Given the description of an element on the screen output the (x, y) to click on. 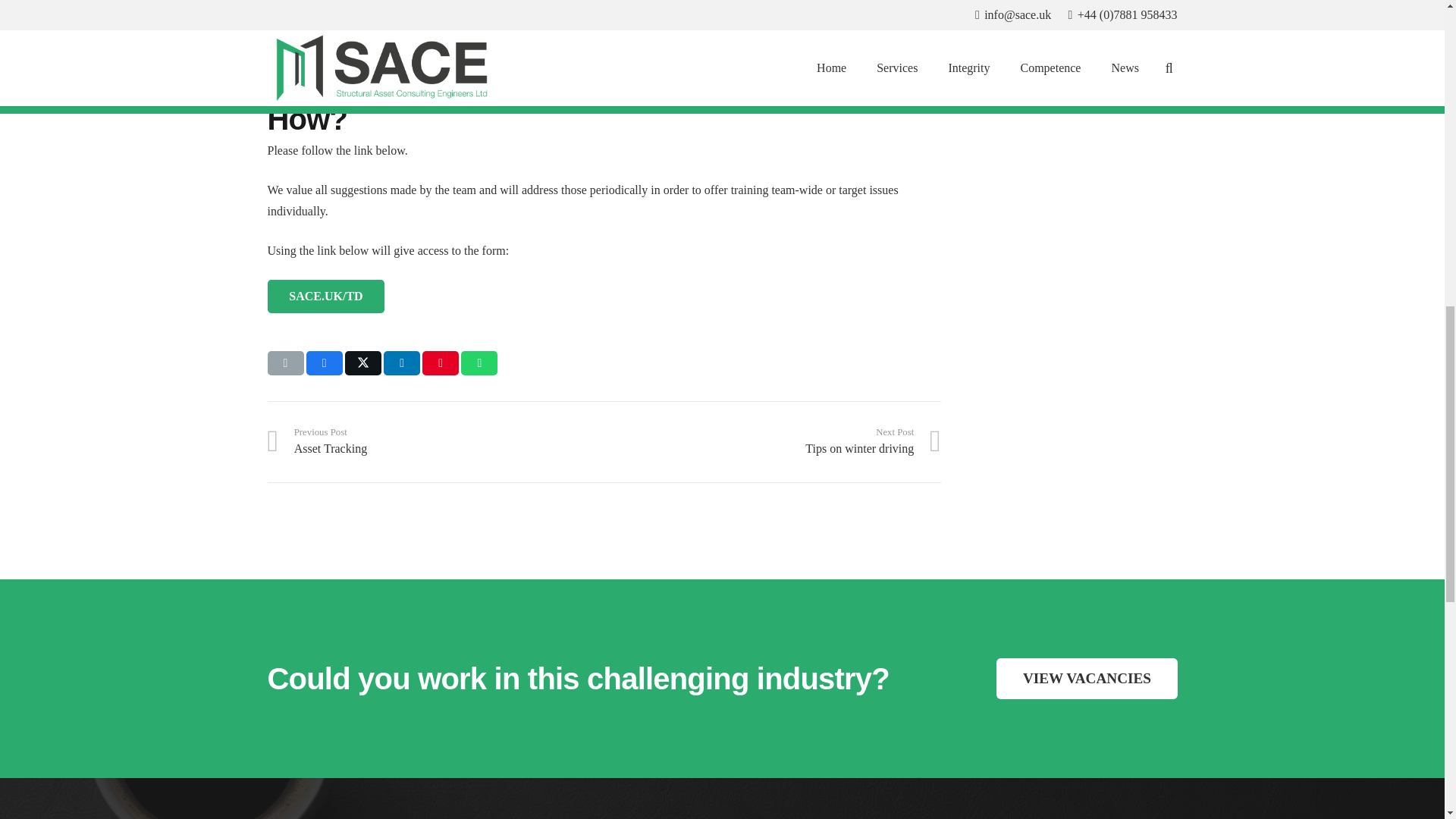
Share this (479, 363)
Asset Tracking (772, 441)
Share this (435, 441)
Tips on winter driving (323, 363)
Share this (772, 441)
Job Opportunities (402, 363)
Email this (1085, 678)
Pin this (284, 363)
VIEW VACANCIES (440, 363)
